Given the description of an element on the screen output the (x, y) to click on. 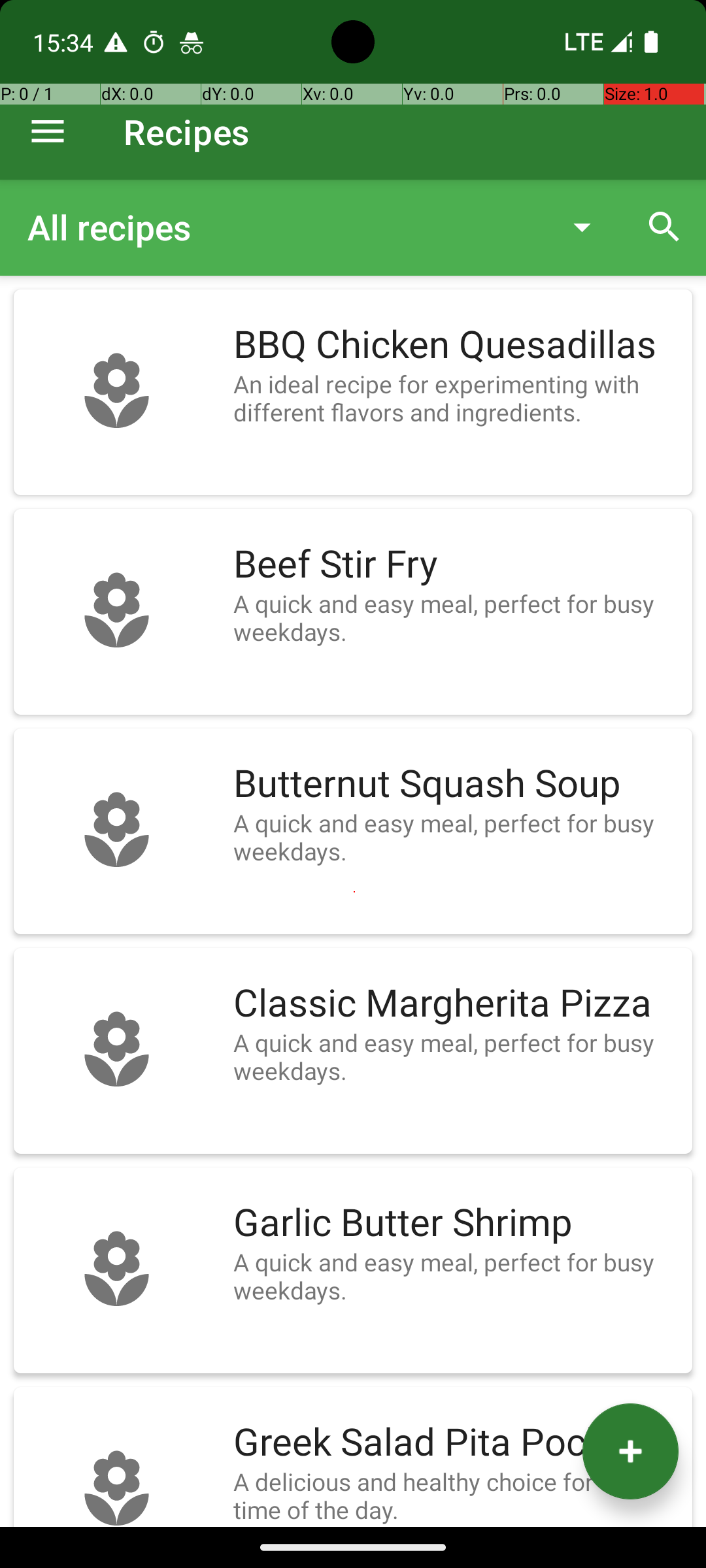
BBQ Chicken Quesadillas Element type: android.widget.TextView (455, 344)
Classic Margherita Pizza Element type: android.widget.TextView (455, 1003)
Garlic Butter Shrimp Element type: android.widget.TextView (455, 1222)
Greek Salad Pita Pockets Element type: android.widget.TextView (455, 1442)
